Given the description of an element on the screen output the (x, y) to click on. 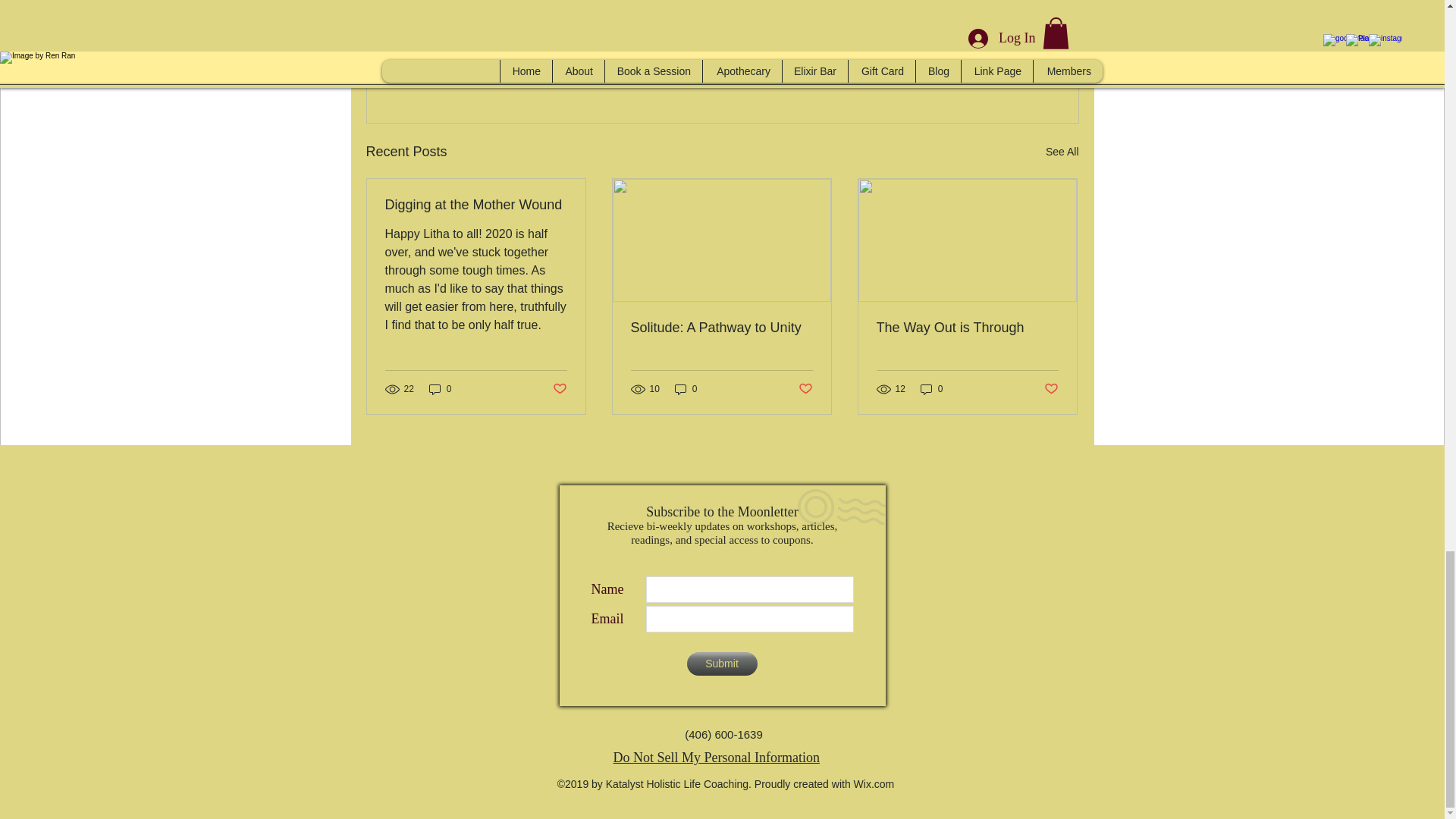
The Way Out is Through (967, 327)
0 (440, 389)
0 (685, 389)
Post not marked as liked (804, 389)
0 (931, 389)
Digging at the Mother Wound (476, 204)
Post not marked as liked (1050, 389)
Card Readings (967, 24)
Post not marked as liked (995, 68)
See All (1061, 151)
Post not marked as liked (558, 389)
Solitude: A Pathway to Unity (721, 327)
